Given the description of an element on the screen output the (x, y) to click on. 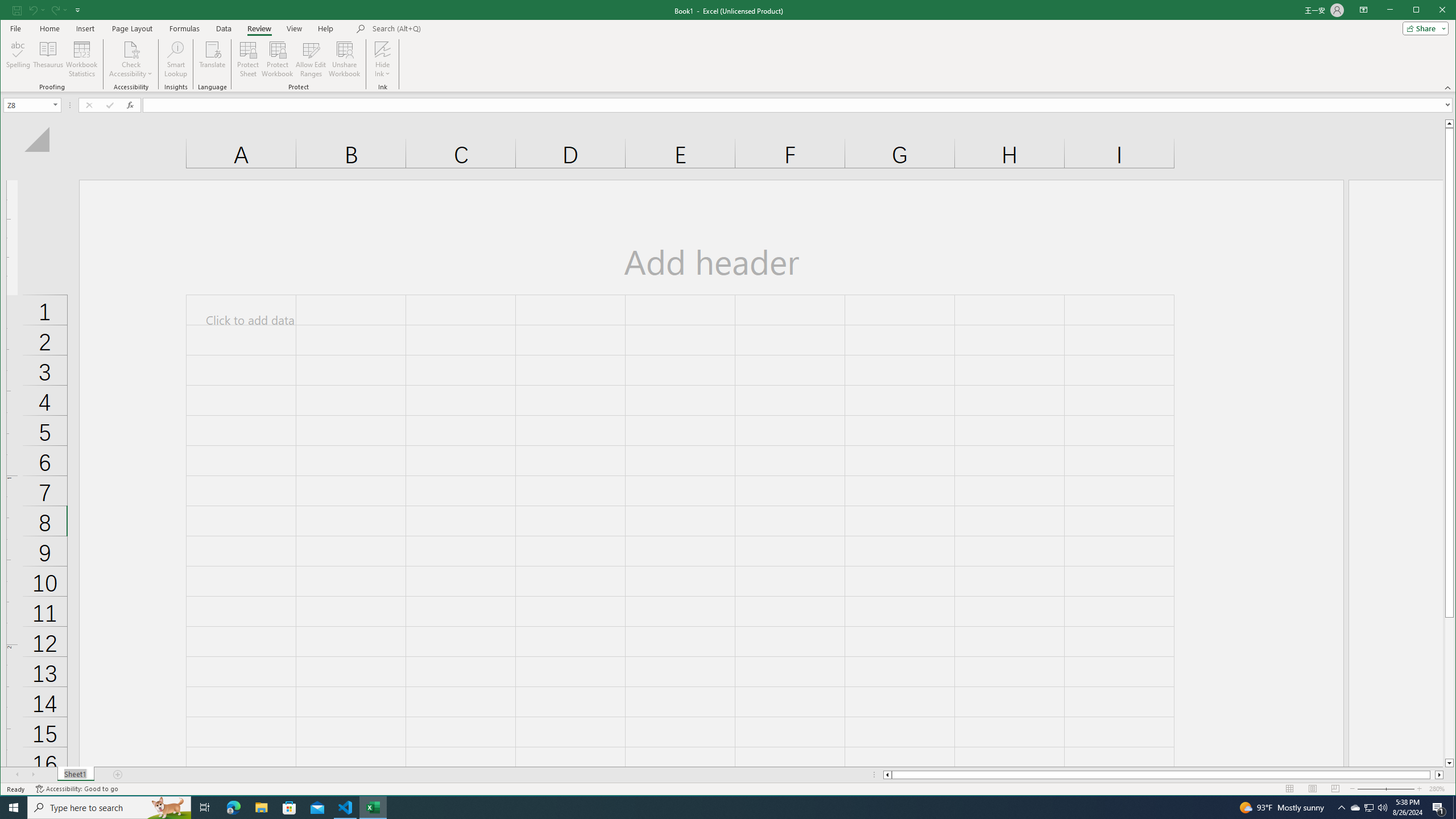
File Explorer (261, 807)
Search highlights icon opens search home window (167, 807)
Spelling... (18, 59)
Type here to search (108, 807)
